Given the description of an element on the screen output the (x, y) to click on. 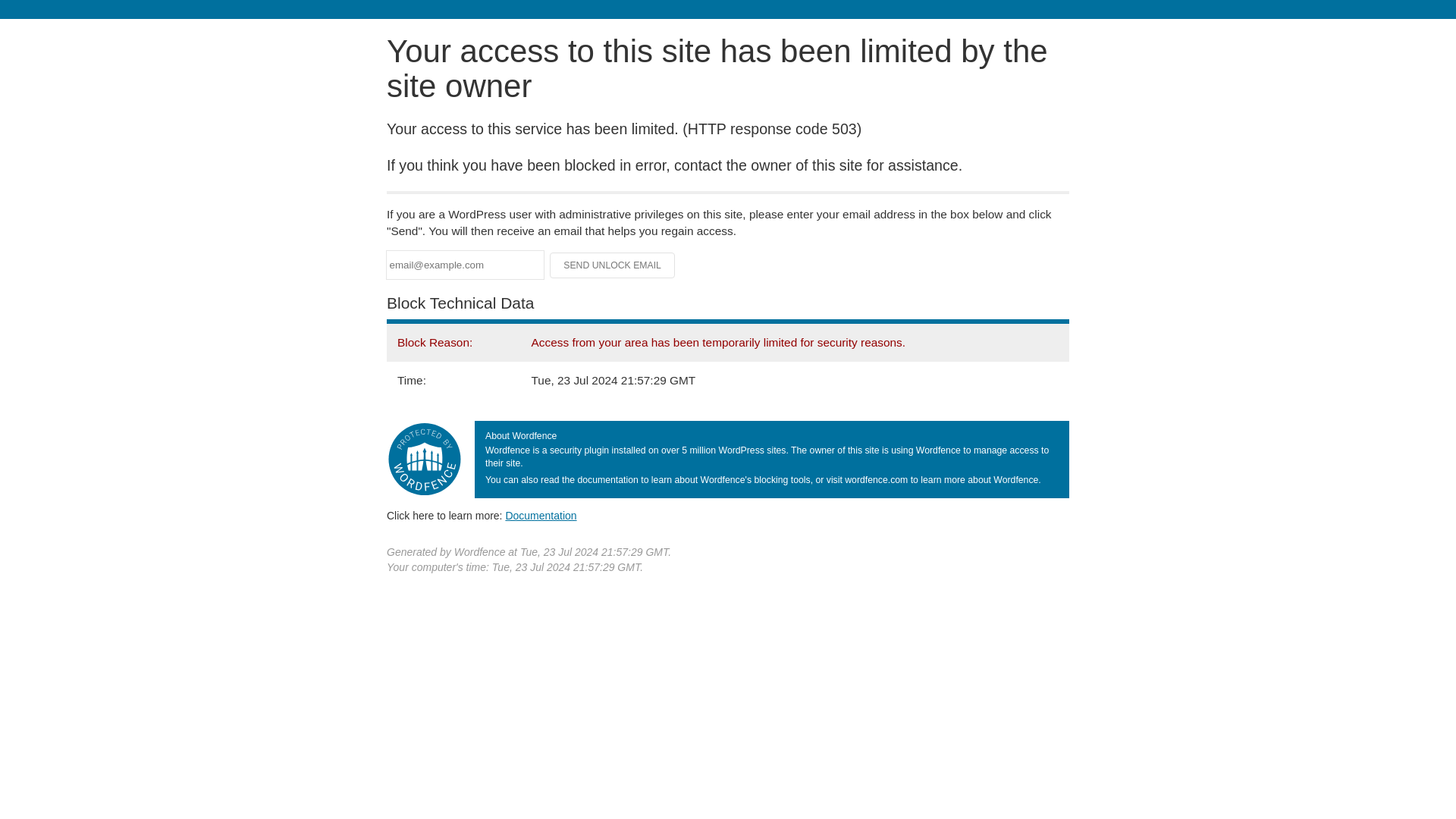
Send Unlock Email (612, 265)
Send Unlock Email (612, 265)
Documentation (540, 515)
